Given the description of an element on the screen output the (x, y) to click on. 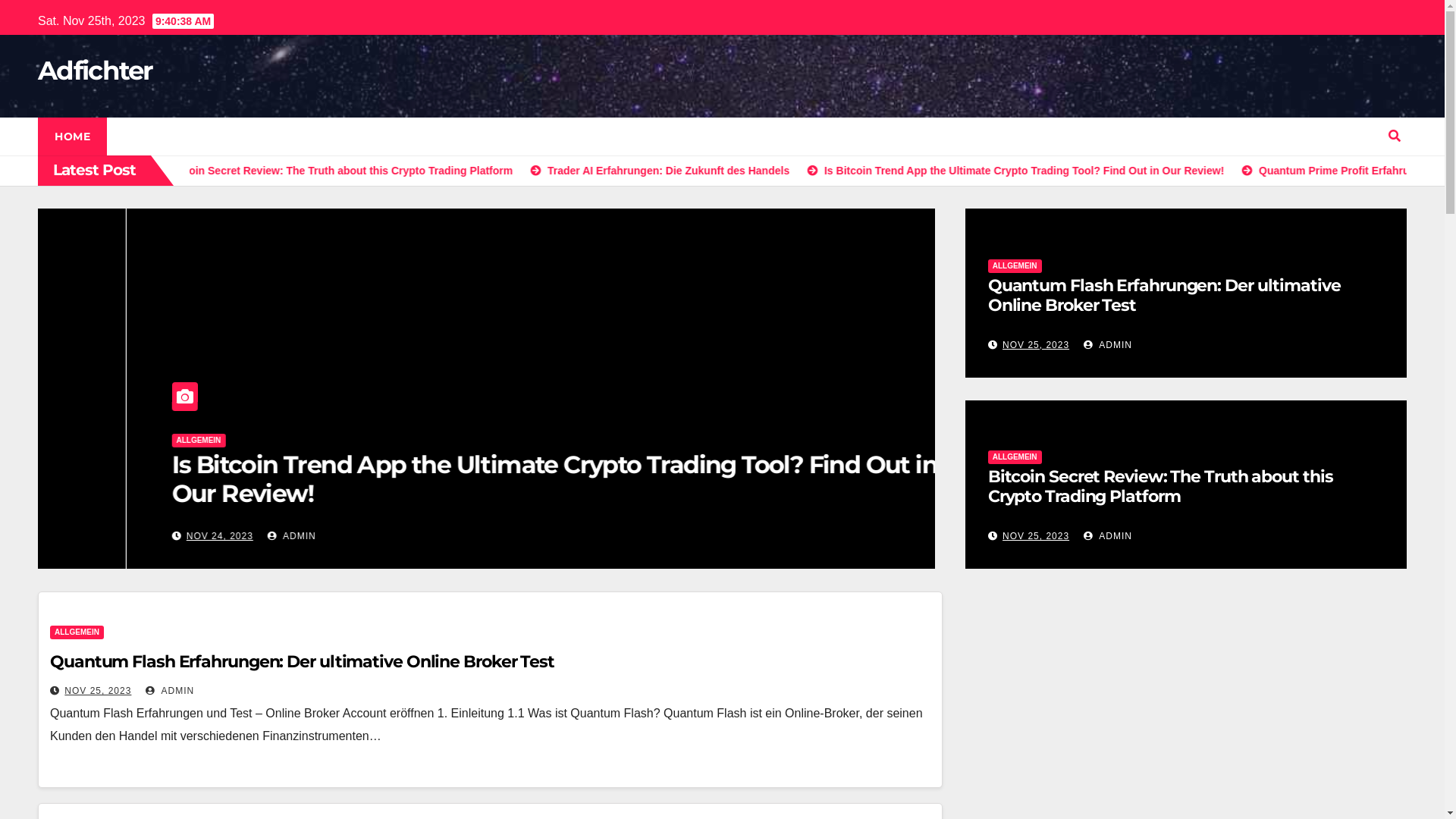
HOME Element type: text (71, 136)
ADMIN Element type: text (169, 690)
ADMIN Element type: text (252, 535)
Adfichter Element type: text (95, 70)
ALLGEMEIN Element type: text (198, 467)
ALLGEMEIN Element type: text (1014, 266)
NOV 25, 2023 Element type: text (1035, 535)
Trader AI Erfahrungen: Die Zukunft des Handels Element type: text (437, 491)
ALLGEMEIN Element type: text (76, 632)
NOV 25, 2023 Element type: text (1035, 344)
ALLGEMEIN Element type: text (1014, 457)
Quantum Flash Erfahrungen: Der ultimative Online Broker Test Element type: text (302, 661)
Quantum Flash Erfahrungen: Der ultimative Online Broker Test Element type: text (1164, 295)
Trader AI Erfahrungen: Die Zukunft des Handels Element type: text (802, 170)
NOV 25, 2023 Element type: text (97, 690)
ADMIN Element type: text (1107, 535)
NOV 24, 2023 Element type: text (198, 535)
ADMIN Element type: text (1107, 344)
